Given the description of an element on the screen output the (x, y) to click on. 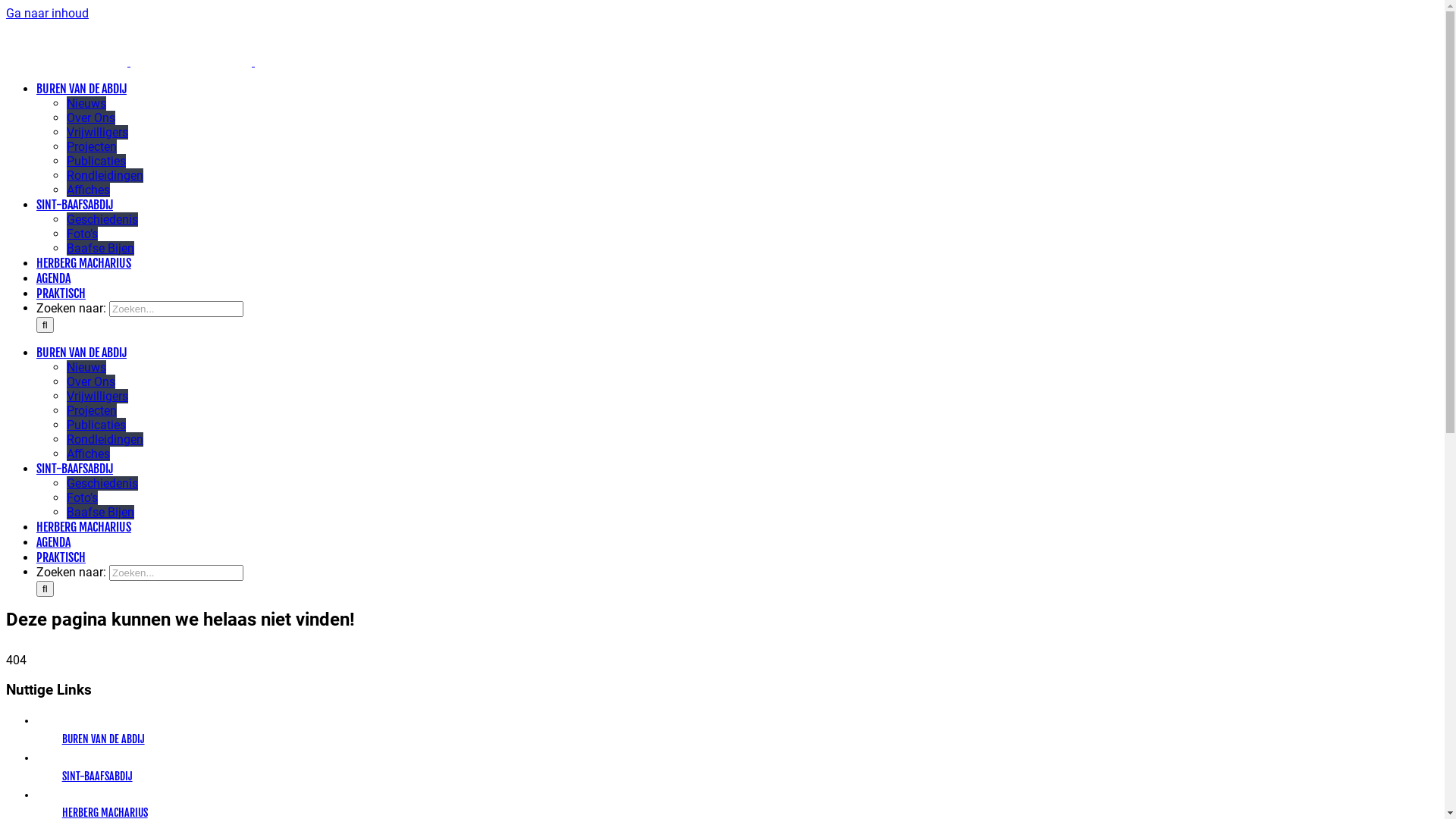
SINT-BAAFSABDIJ Element type: text (74, 204)
Projecten Element type: text (91, 146)
Rondleidingen Element type: text (104, 175)
Ga naar inhoud Element type: text (47, 13)
PRAKTISCH Element type: text (60, 293)
SINT-BAAFSABDIJ Element type: text (74, 468)
Affiches Element type: text (87, 189)
Nieuws Element type: text (86, 103)
PRAKTISCH Element type: text (60, 556)
SINT-BAAFSABDIJ Element type: text (97, 775)
AGENDA Element type: text (53, 541)
Baafse Bijen Element type: text (100, 512)
BUREN VAN DE ABDIJ Element type: text (81, 88)
Publicaties Element type: text (95, 424)
Rondleidingen Element type: text (104, 439)
Geschiedenis Element type: text (102, 219)
AGENDA Element type: text (53, 277)
HERBERG MACHARIUS Element type: text (83, 526)
Nieuws Element type: text (86, 367)
Geschiedenis Element type: text (102, 483)
BUREN VAN DE ABDIJ Element type: text (103, 738)
BUREN VAN DE ABDIJ Element type: text (81, 352)
Projecten Element type: text (91, 410)
HERBERG MACHARIUS Element type: text (83, 262)
Publicaties Element type: text (95, 160)
Over Ons Element type: text (90, 117)
Affiches Element type: text (87, 453)
Vrijwilligers Element type: text (97, 132)
Baafse Bijen Element type: text (100, 248)
Over Ons Element type: text (90, 381)
Vrijwilligers Element type: text (97, 396)
